Given the description of an element on the screen output the (x, y) to click on. 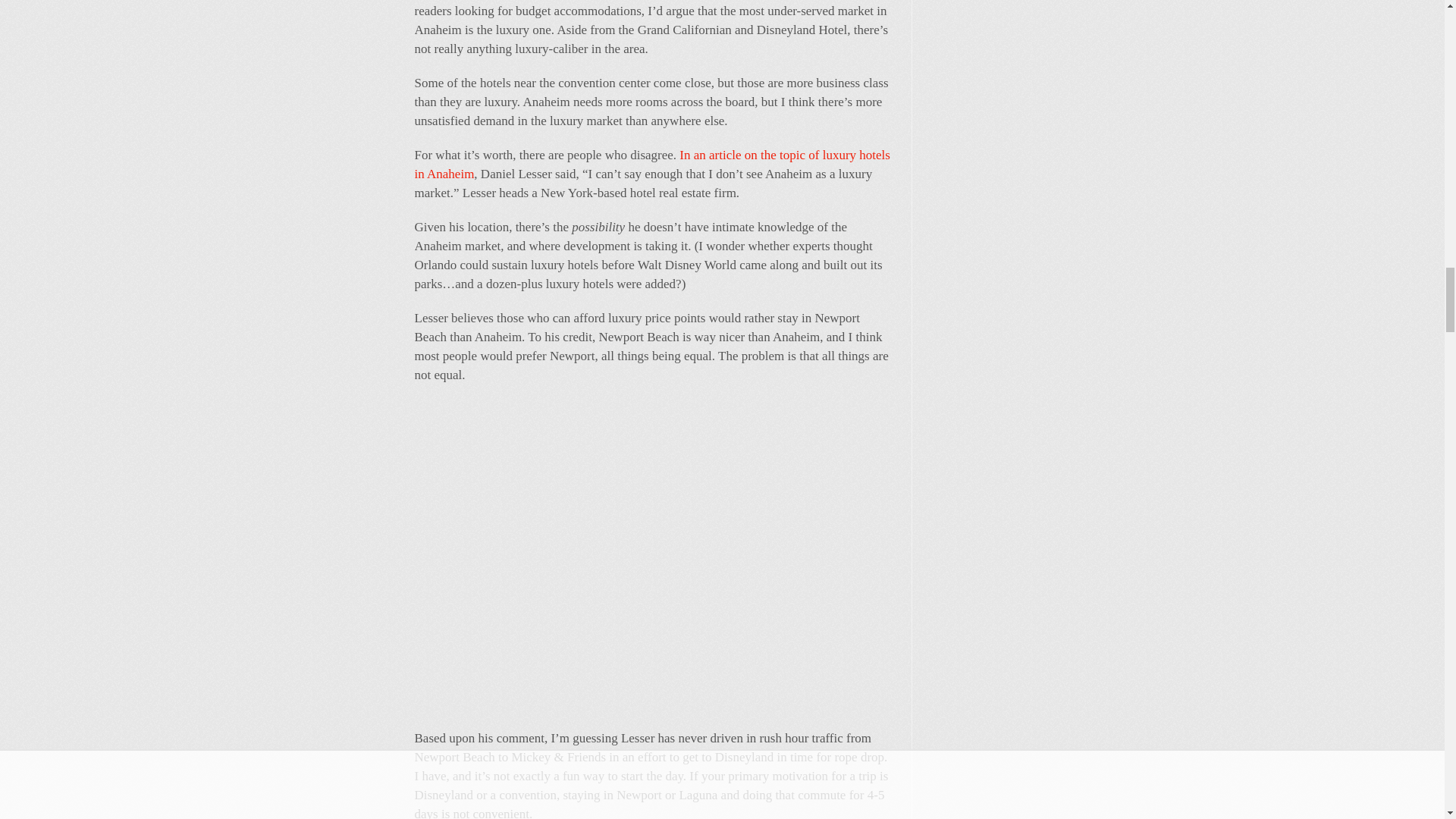
In an article on the topic of luxury hotels in Anaheim (651, 164)
